Given the description of an element on the screen output the (x, y) to click on. 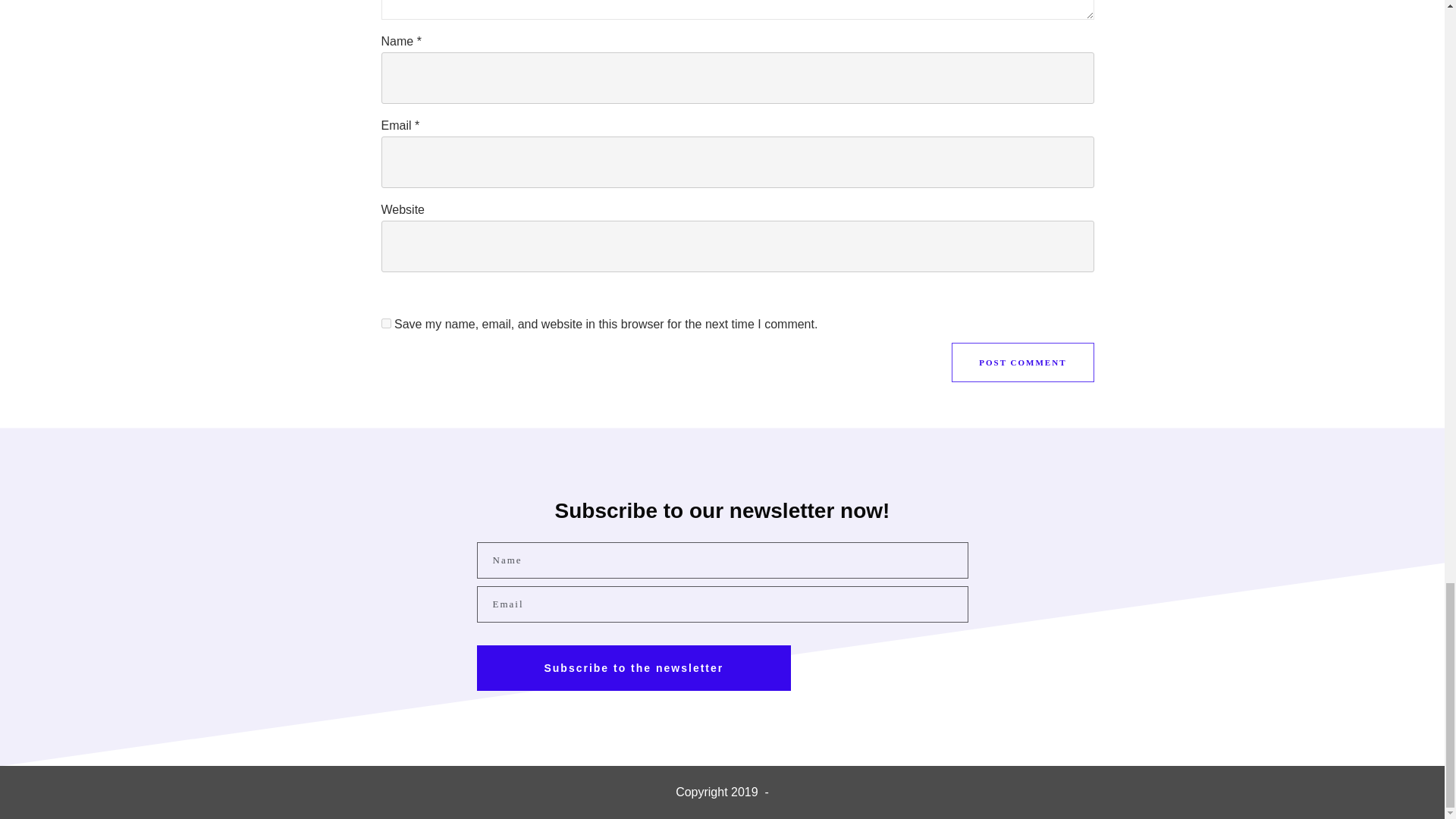
POST COMMENT (1022, 362)
yes (385, 323)
Subscribe to the newsletter (633, 668)
